Given the description of an element on the screen output the (x, y) to click on. 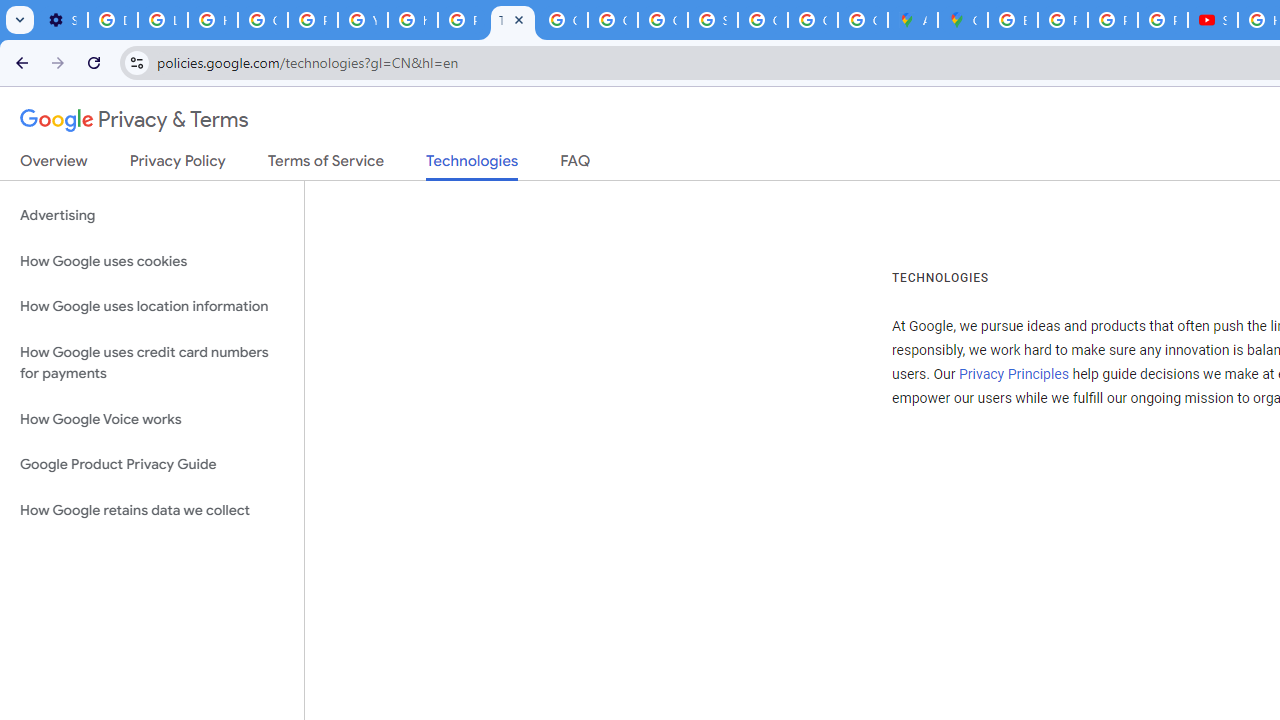
Google Account Help (262, 20)
